Given the description of an element on the screen output the (x, y) to click on. 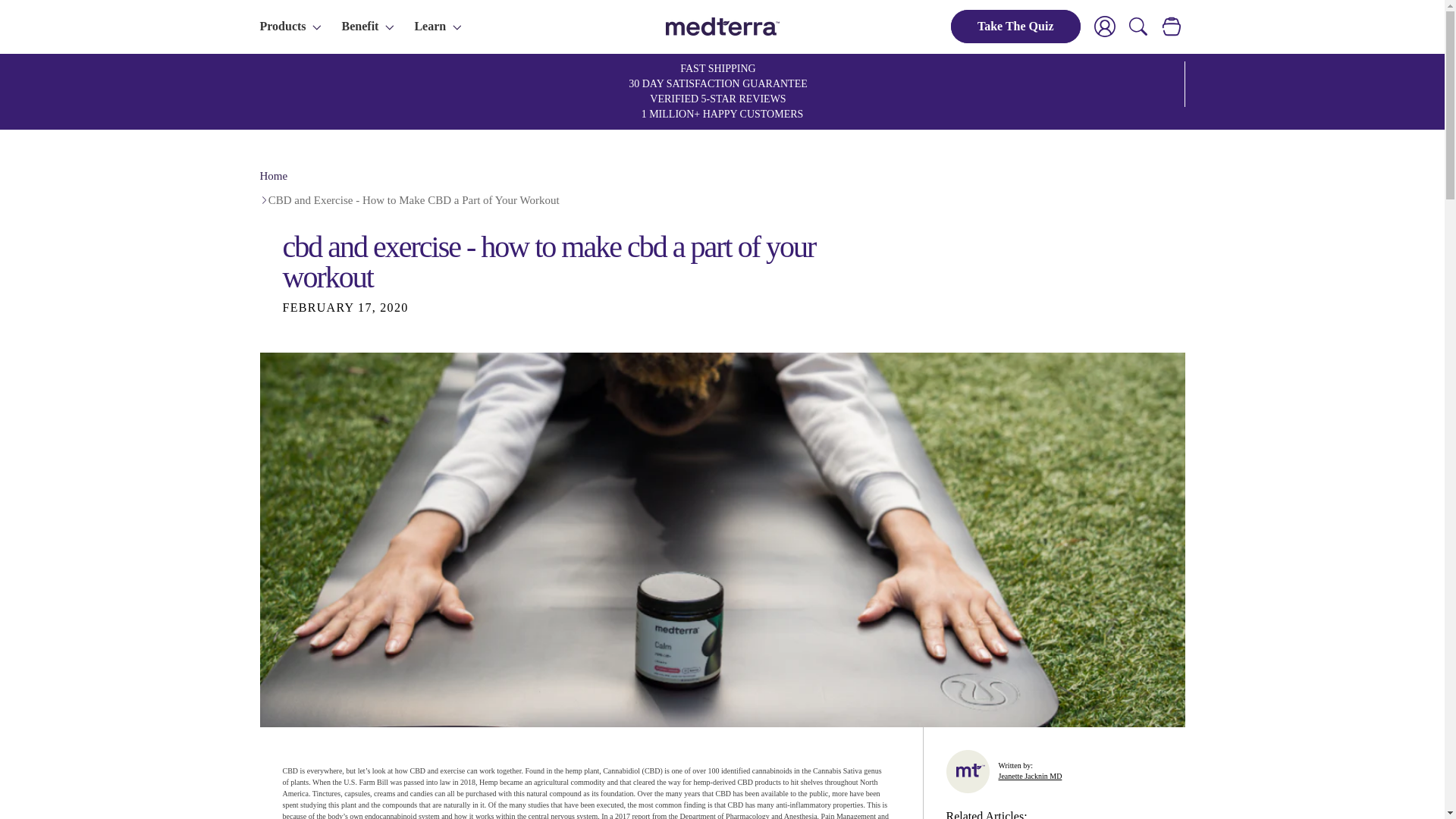
Home (272, 176)
CBD and Exercise - How to Make CBD a Part of Your Workout (413, 200)
Skip to content (45, 17)
